Given the description of an element on the screen output the (x, y) to click on. 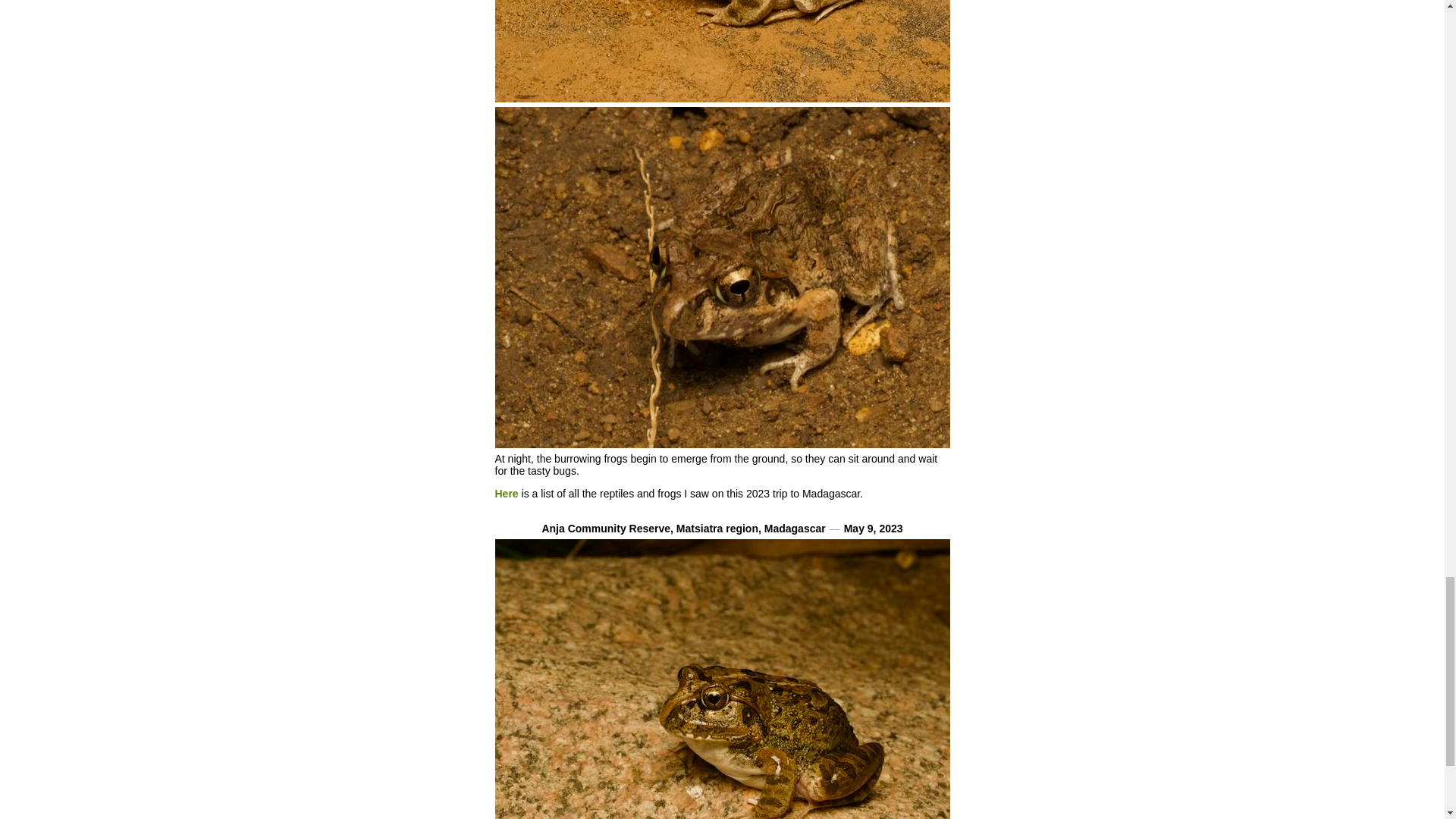
Here (506, 493)
